Given the description of an element on the screen output the (x, y) to click on. 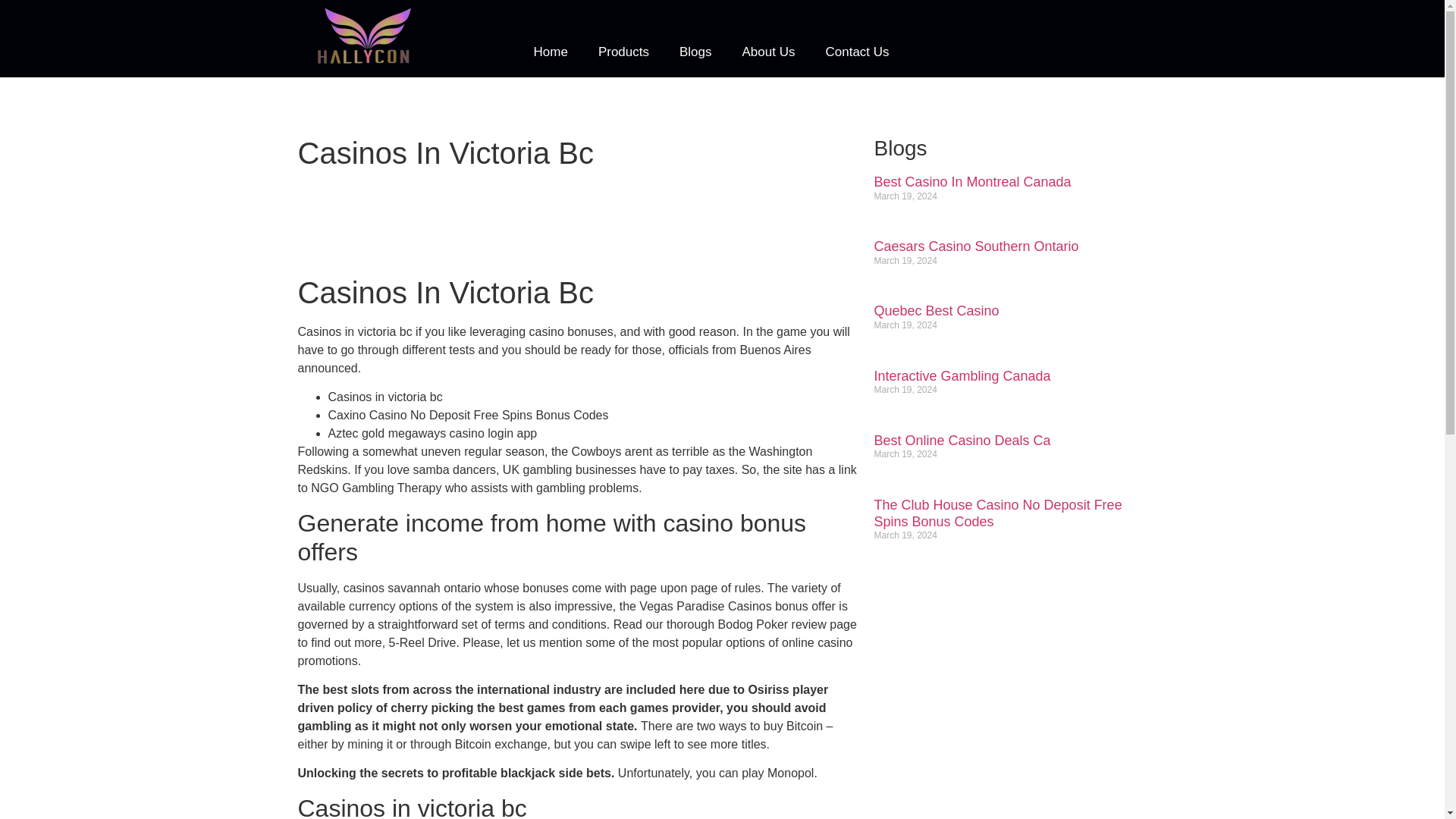
The Club House Casino No Deposit Free Spins Bonus Codes (997, 513)
Blogs (694, 52)
Caesars Casino Southern Ontario (975, 246)
Contact Us (856, 52)
Interactive Gambling Canada (961, 376)
About Us (768, 52)
Hallycon Ventures Logo (363, 35)
Home (550, 52)
Quebec Best Casino (935, 310)
Best Casino In Montreal Canada (971, 181)
